Given the description of an element on the screen output the (x, y) to click on. 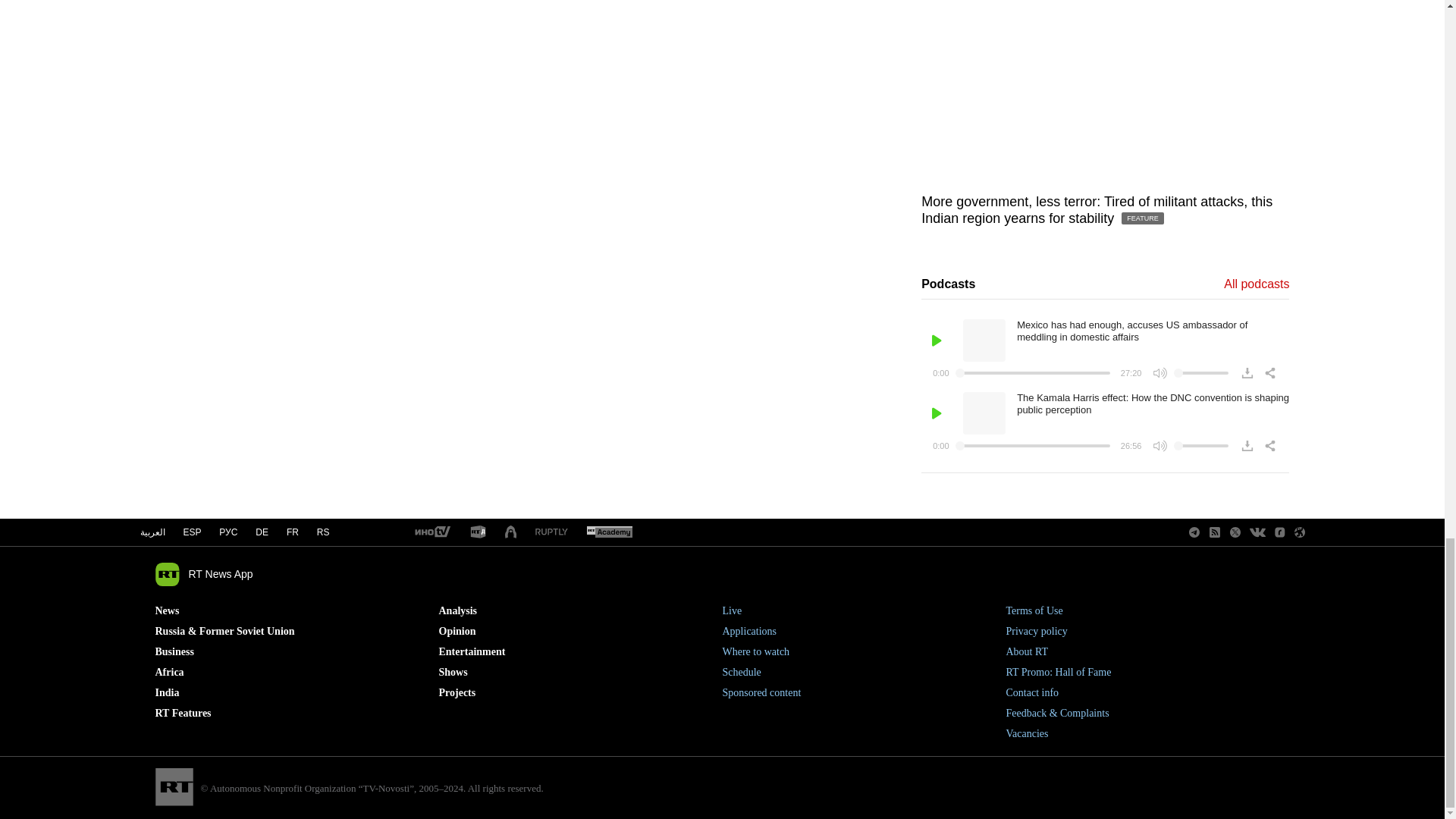
RT  (551, 532)
RT  (608, 532)
RT  (478, 532)
RT  (431, 532)
